Given the description of an element on the screen output the (x, y) to click on. 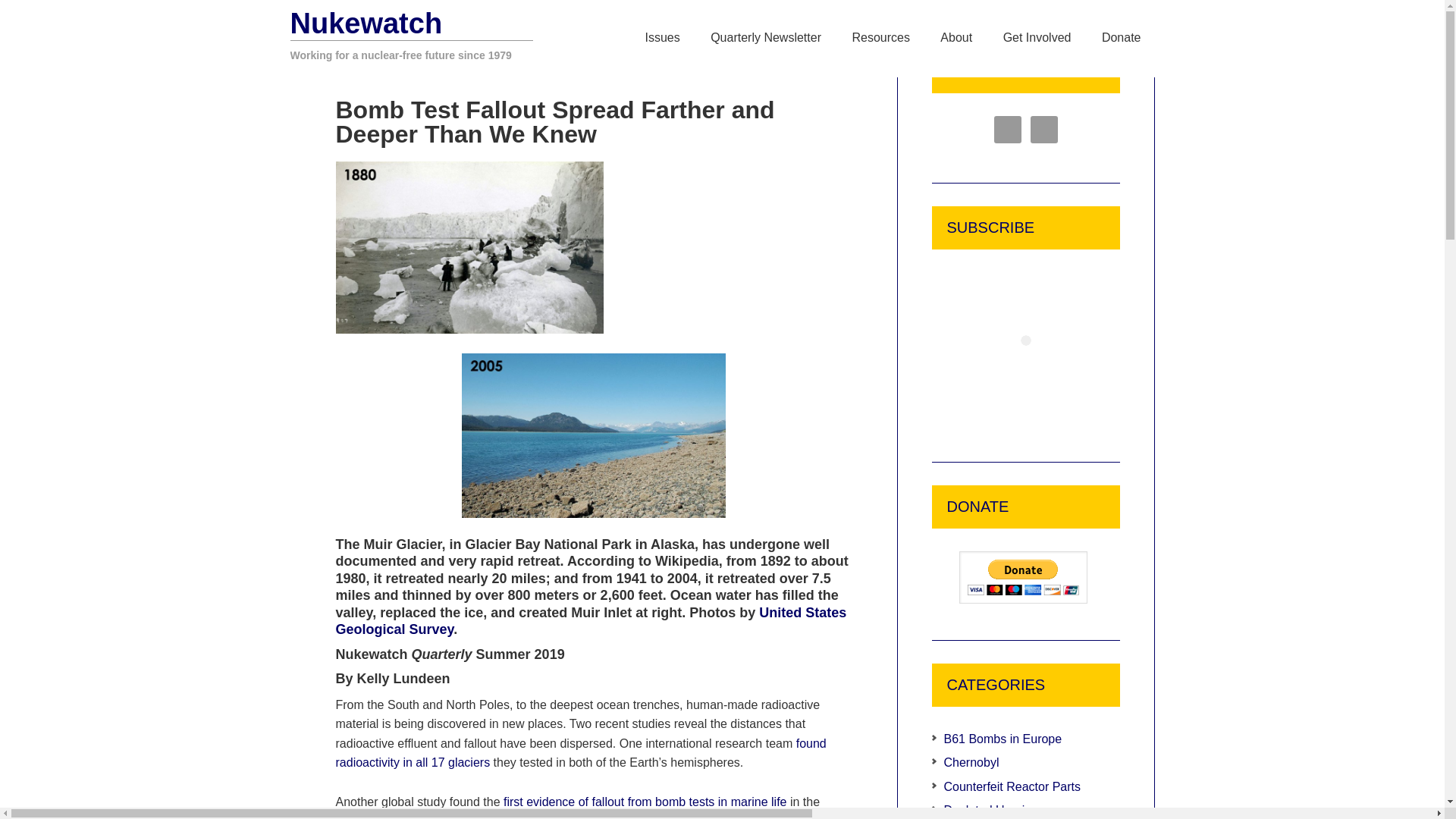
Nukewatch (365, 23)
Get Involved (1037, 38)
About (955, 38)
LEAVE A COMMENT (775, 68)
NUKEWATCH (441, 69)
Quarterly Newsletter (765, 38)
Donate (1120, 38)
Resources (880, 38)
Issues (661, 38)
